Given the description of an element on the screen output the (x, y) to click on. 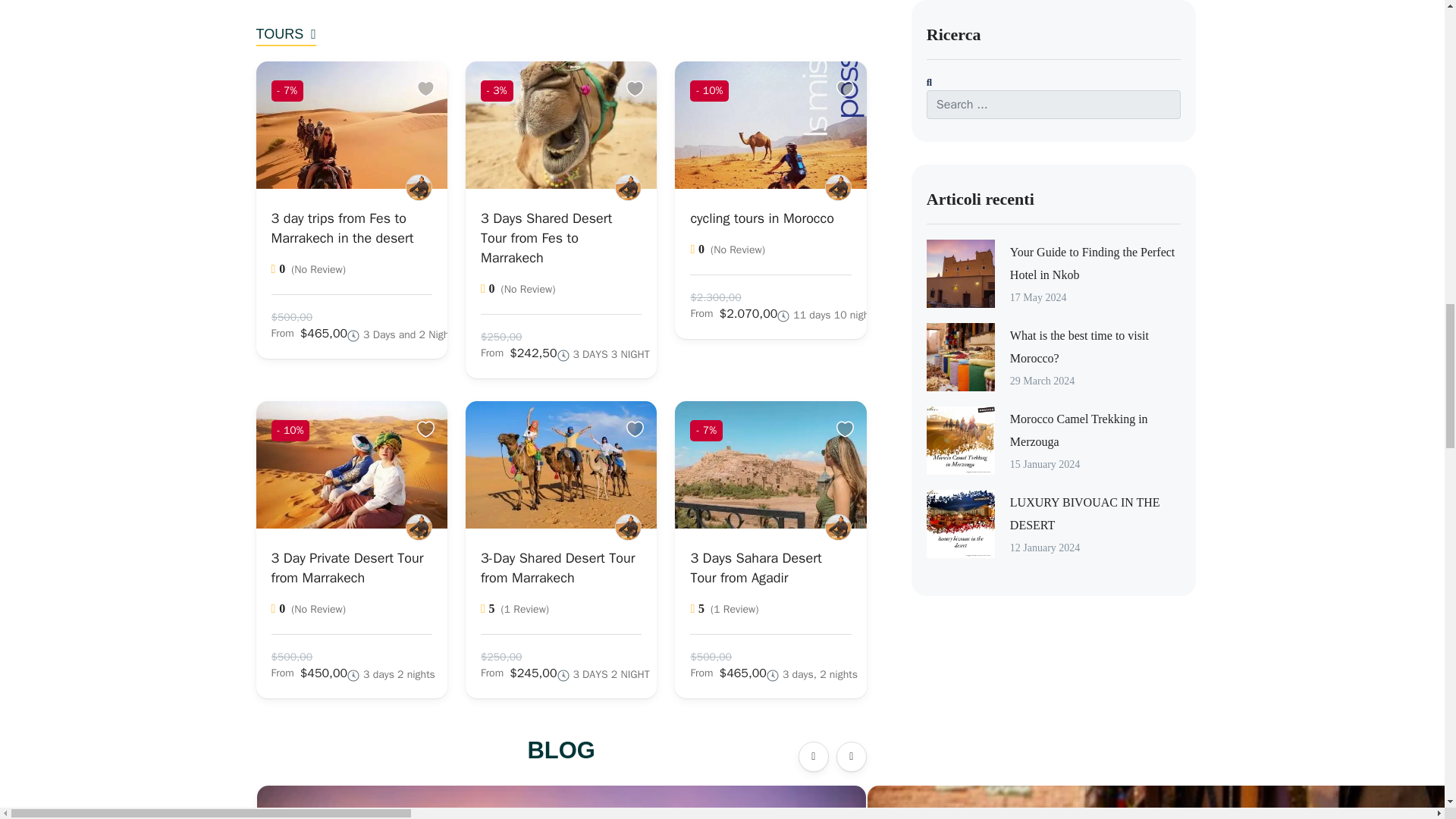
Omar (838, 527)
Omar (419, 527)
Add to wishlist (427, 88)
TOURS (285, 36)
3-Day Shared Desert Tour from Marrakech (557, 567)
Omar (628, 187)
Add to wishlist (637, 428)
3 day trips from Fes to Marrakech in the desert (341, 227)
cycling tours in Morocco (761, 217)
3 Day Private Desert Tour from Marrakech (346, 567)
